Given the description of an element on the screen output the (x, y) to click on. 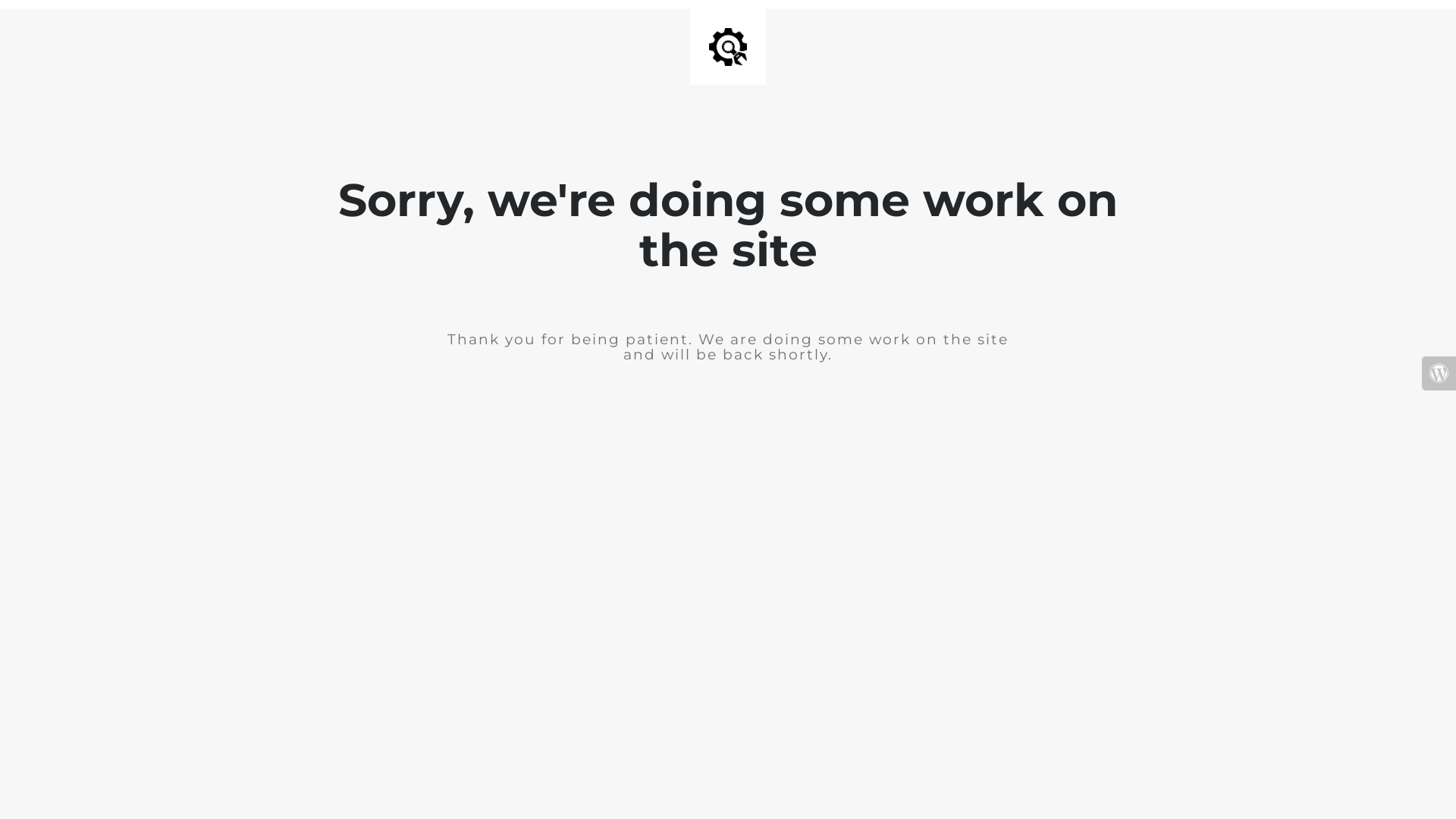
Site is Under Construction Element type: hover (727, 46)
